Given the description of an element on the screen output the (x, y) to click on. 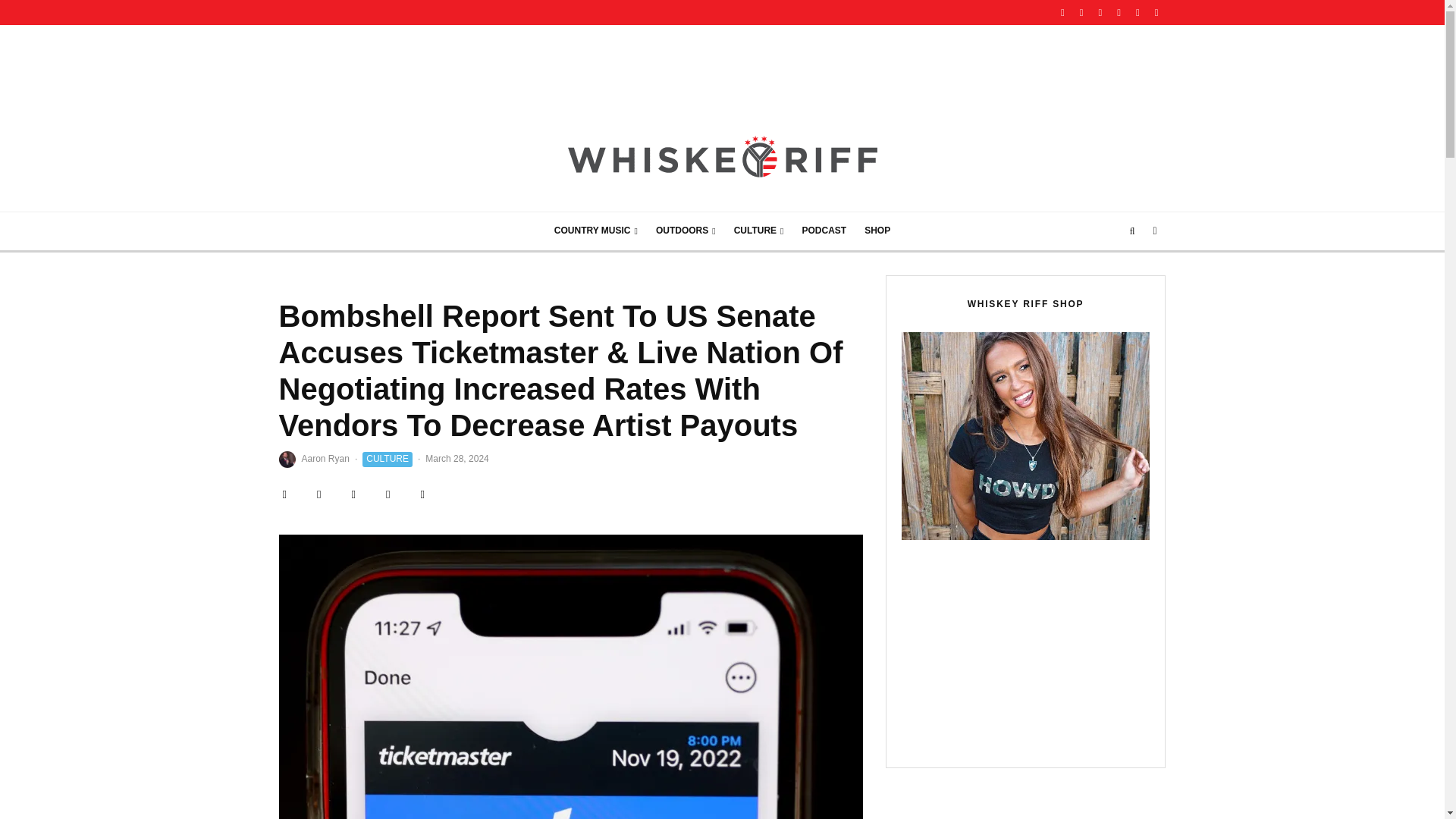
CULTURE (759, 231)
OUTDOORS (685, 231)
COUNTRY MUSIC (595, 231)
